Given the description of an element on the screen output the (x, y) to click on. 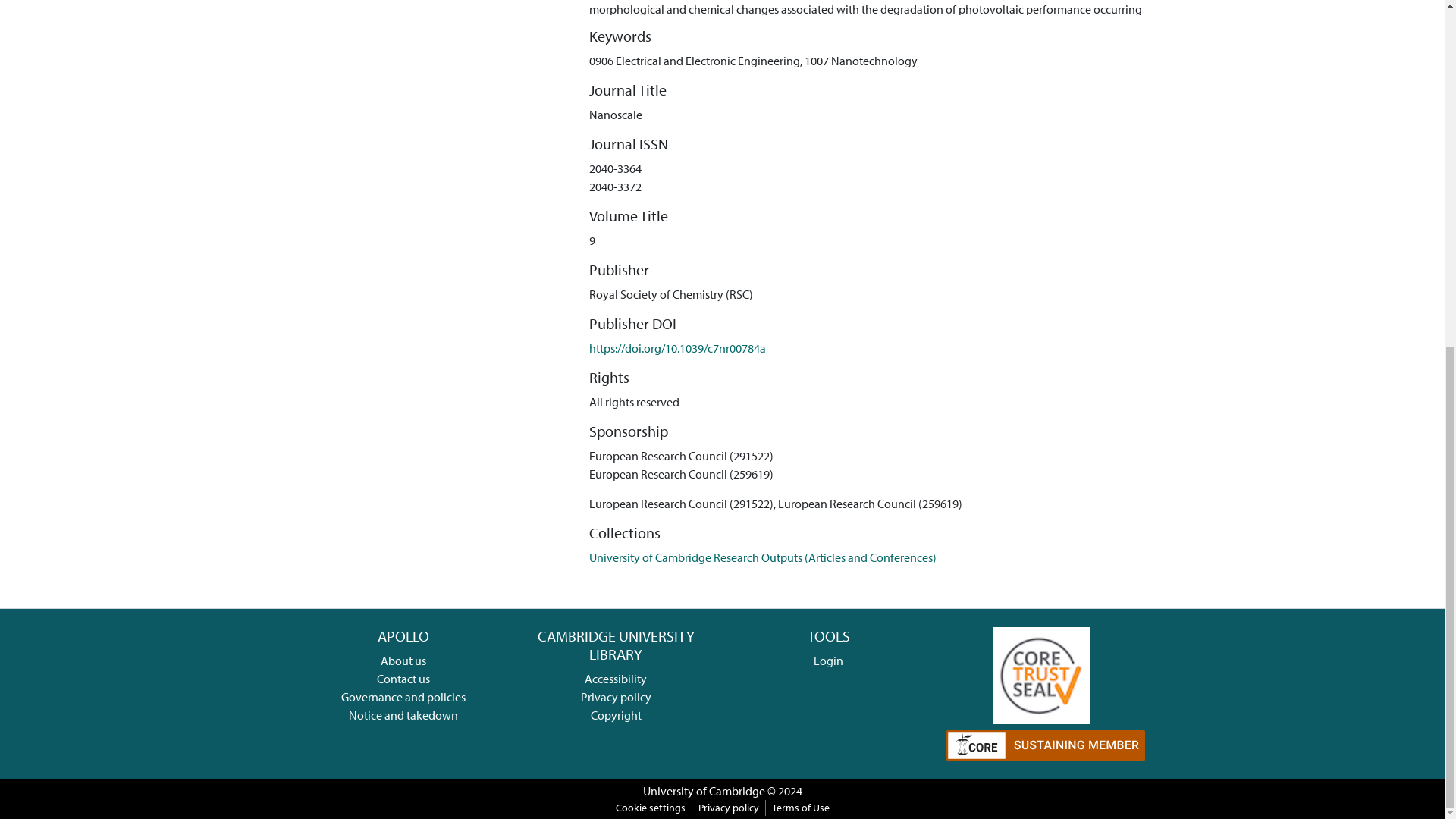
Notice and takedown (403, 714)
Accessibility (615, 678)
Privacy policy (615, 696)
About us (403, 660)
Contact us (403, 678)
Apollo CTS full application (1040, 673)
Governance and policies (402, 696)
